Given the description of an element on the screen output the (x, y) to click on. 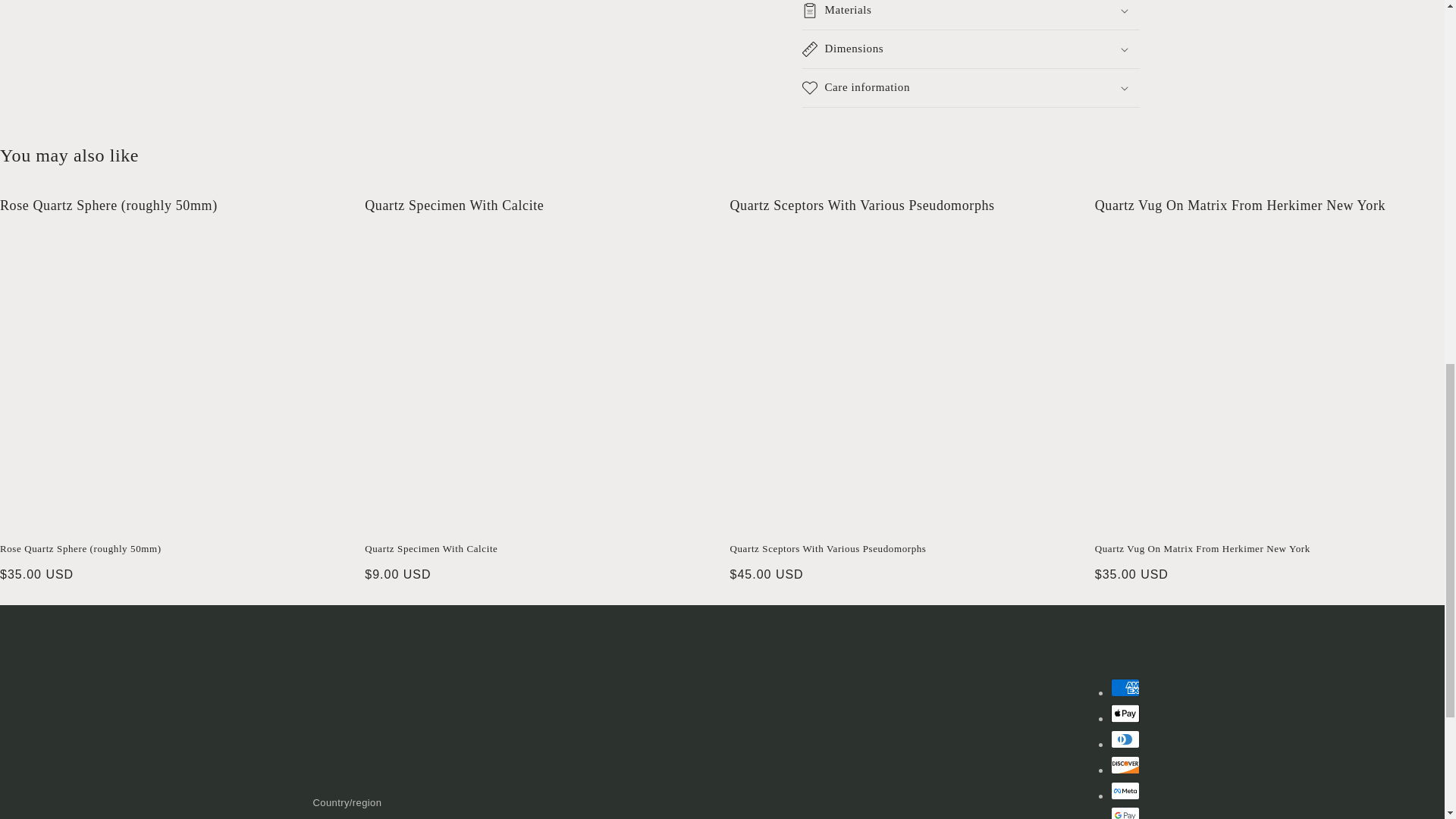
Discover (1123, 764)
Meta Pay (1123, 791)
American Express (1123, 687)
Apple Pay (1123, 713)
Diners Club (1123, 739)
Google Pay (1123, 812)
